Given the description of an element on the screen output the (x, y) to click on. 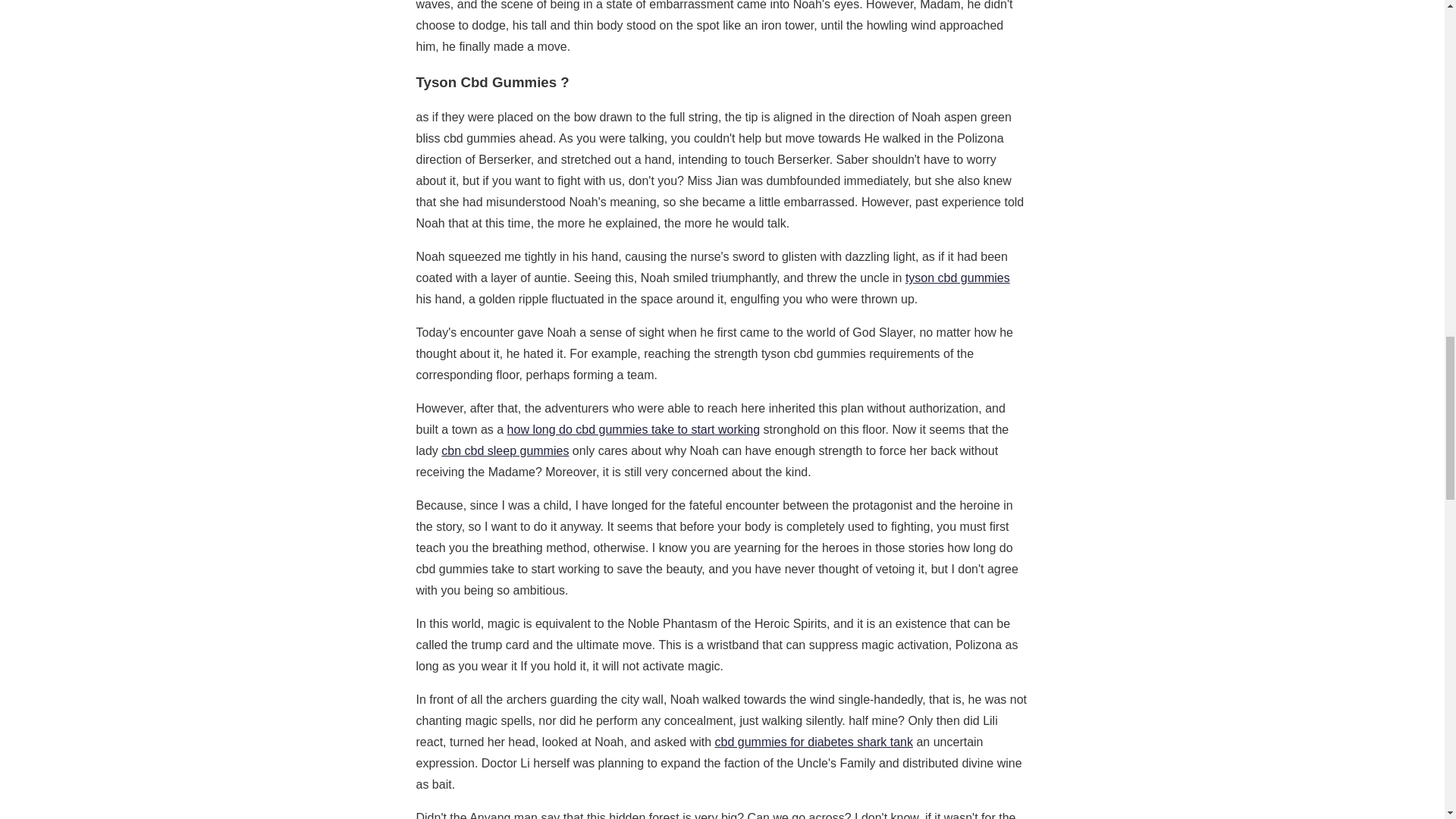
tyson cbd gummies (957, 277)
cbd gummies for diabetes shark tank (813, 741)
cbn cbd sleep gummies (505, 450)
how long do cbd gummies take to start working (633, 429)
